Given the description of an element on the screen output the (x, y) to click on. 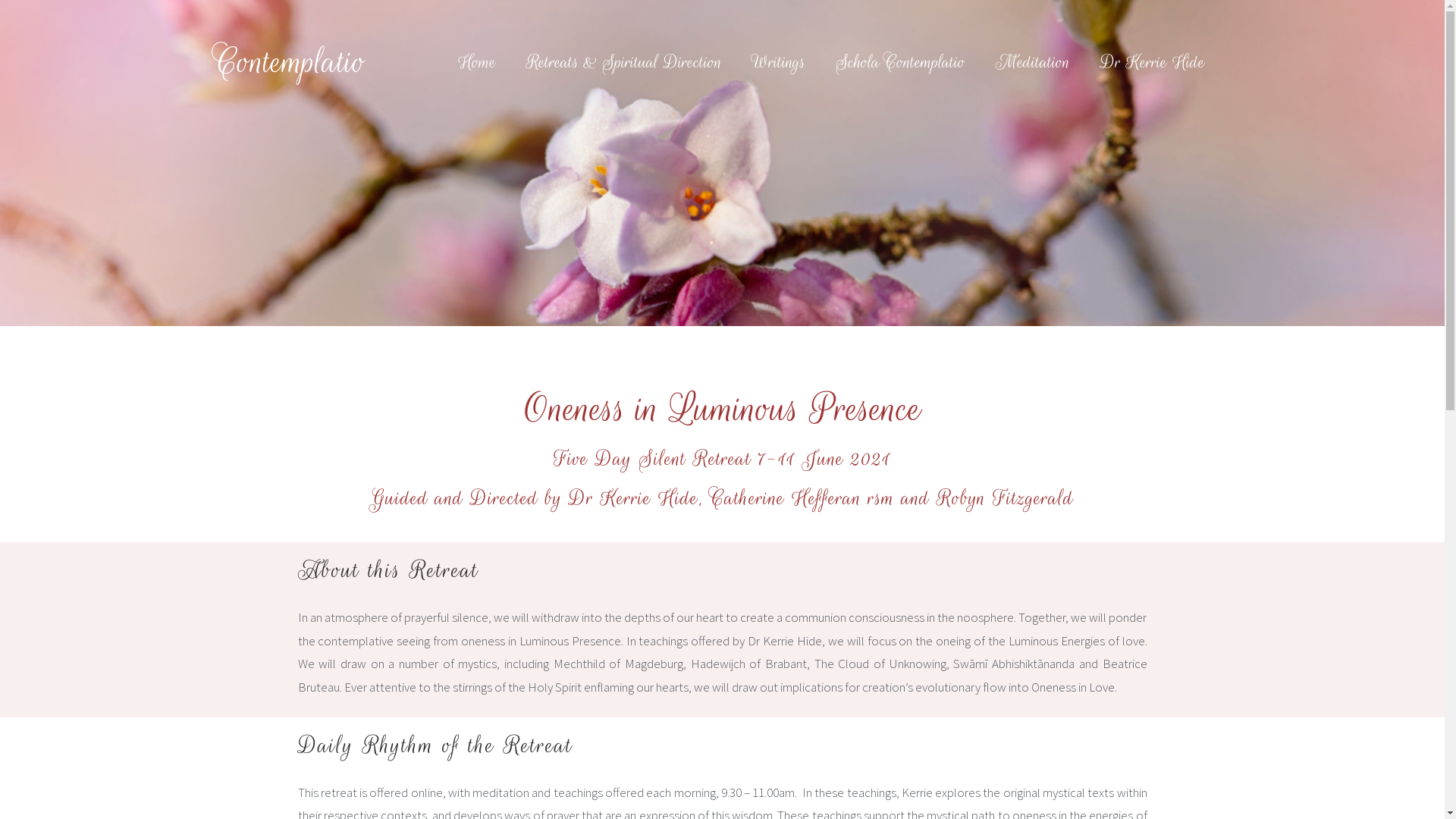
Schola Contemplatio Element type: text (900, 60)
Dr Kerrie Hide Element type: text (1152, 60)
Writings Element type: text (778, 60)
Home Element type: text (476, 60)
Meditation Element type: text (1032, 60)
Contemplatio Element type: text (290, 61)
Retreats & Spiritual Direction Element type: text (624, 60)
